Given the description of an element on the screen output the (x, y) to click on. 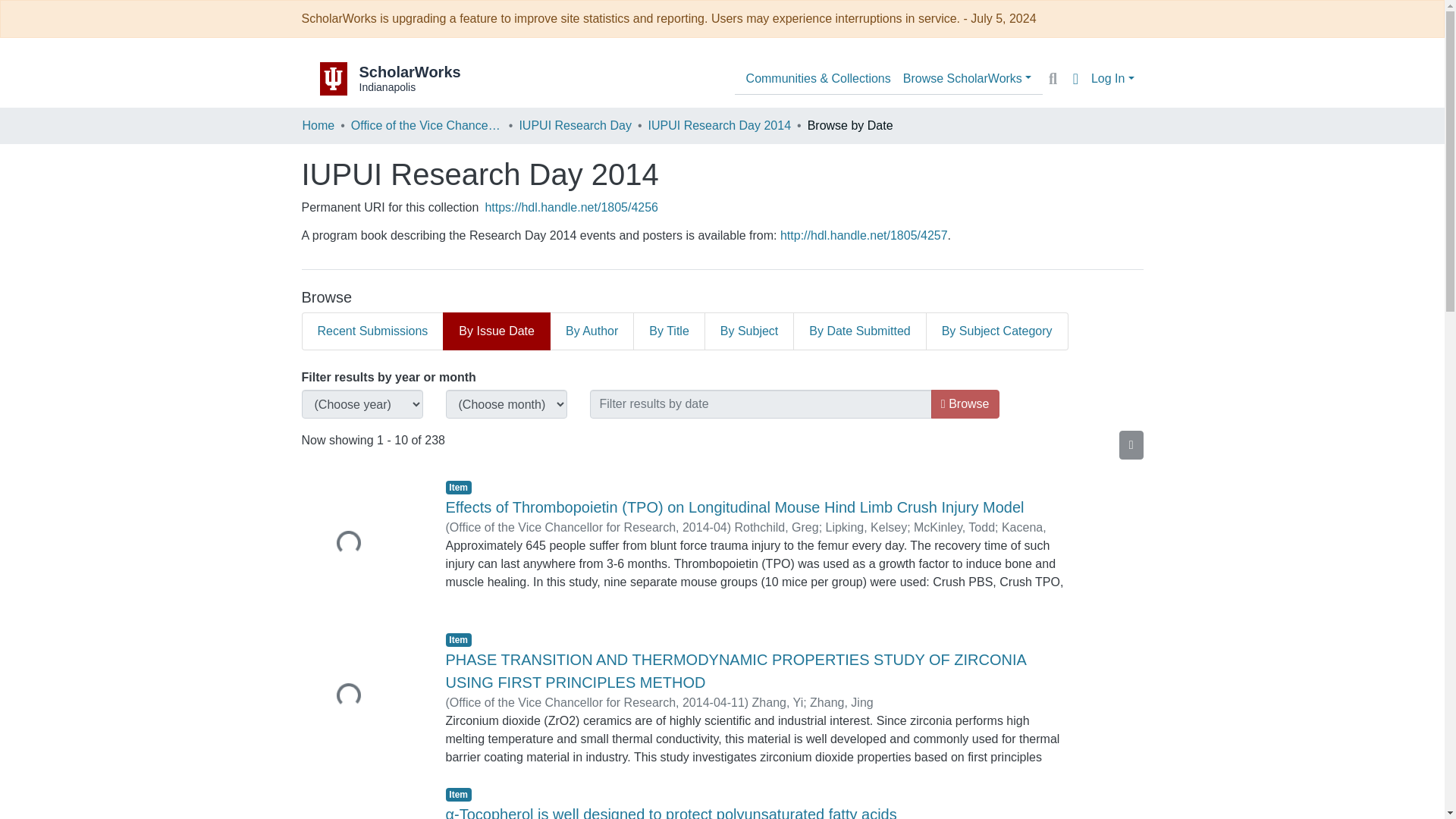
Recent Submissions (372, 331)
Browse ScholarWorks (966, 78)
Log In (1112, 78)
IUPUI Research Day (574, 126)
IUPUI Research Day 2014 (719, 126)
By Author (591, 331)
Office of the Vice Chancellor for Research (426, 126)
Home (317, 126)
By Date Submitted (859, 331)
Loading... (362, 544)
